Given the description of an element on the screen output the (x, y) to click on. 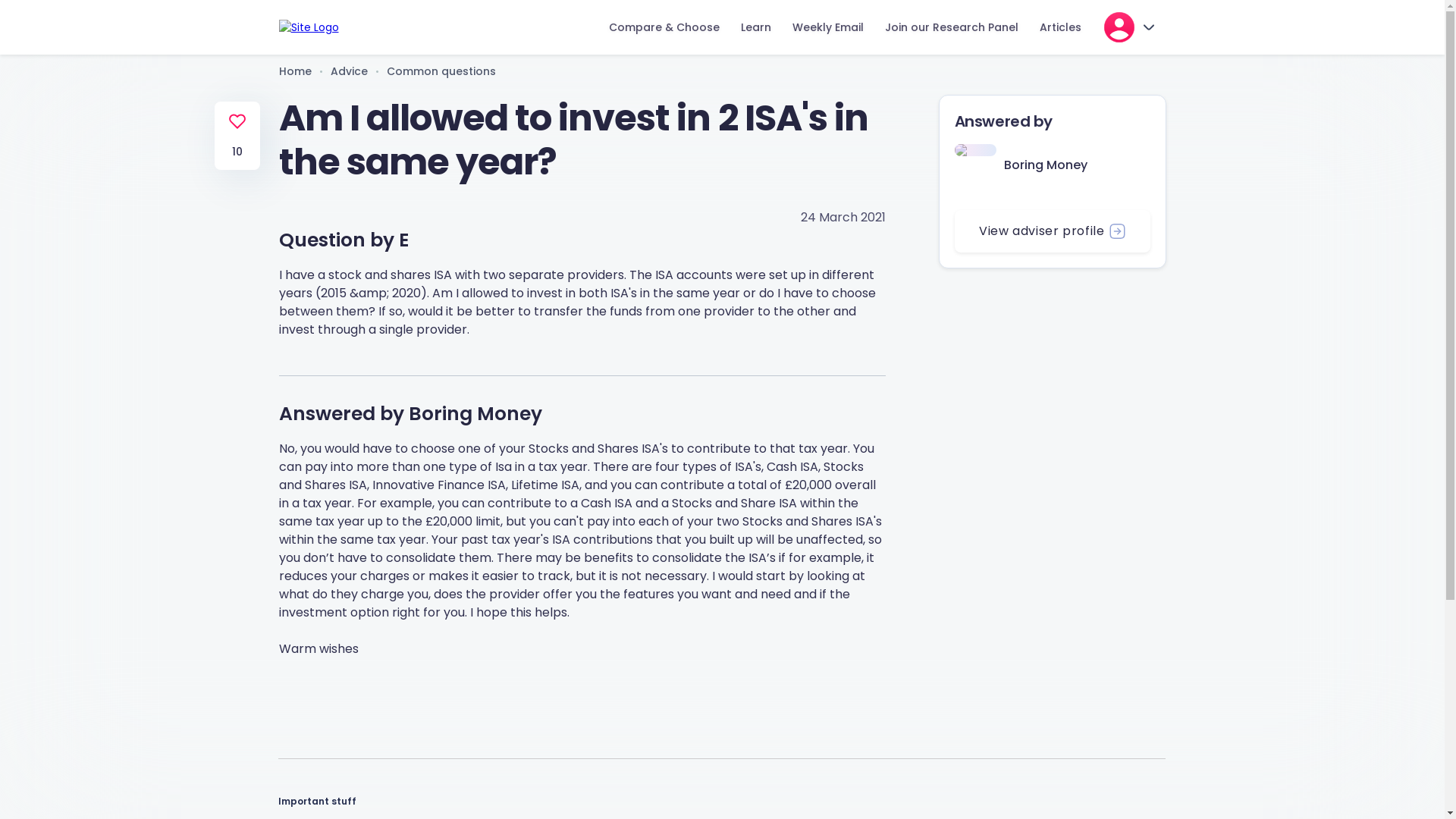
Learn (754, 27)
Join our Research Panel (950, 27)
Weekly Email (826, 27)
